Given the description of an element on the screen output the (x, y) to click on. 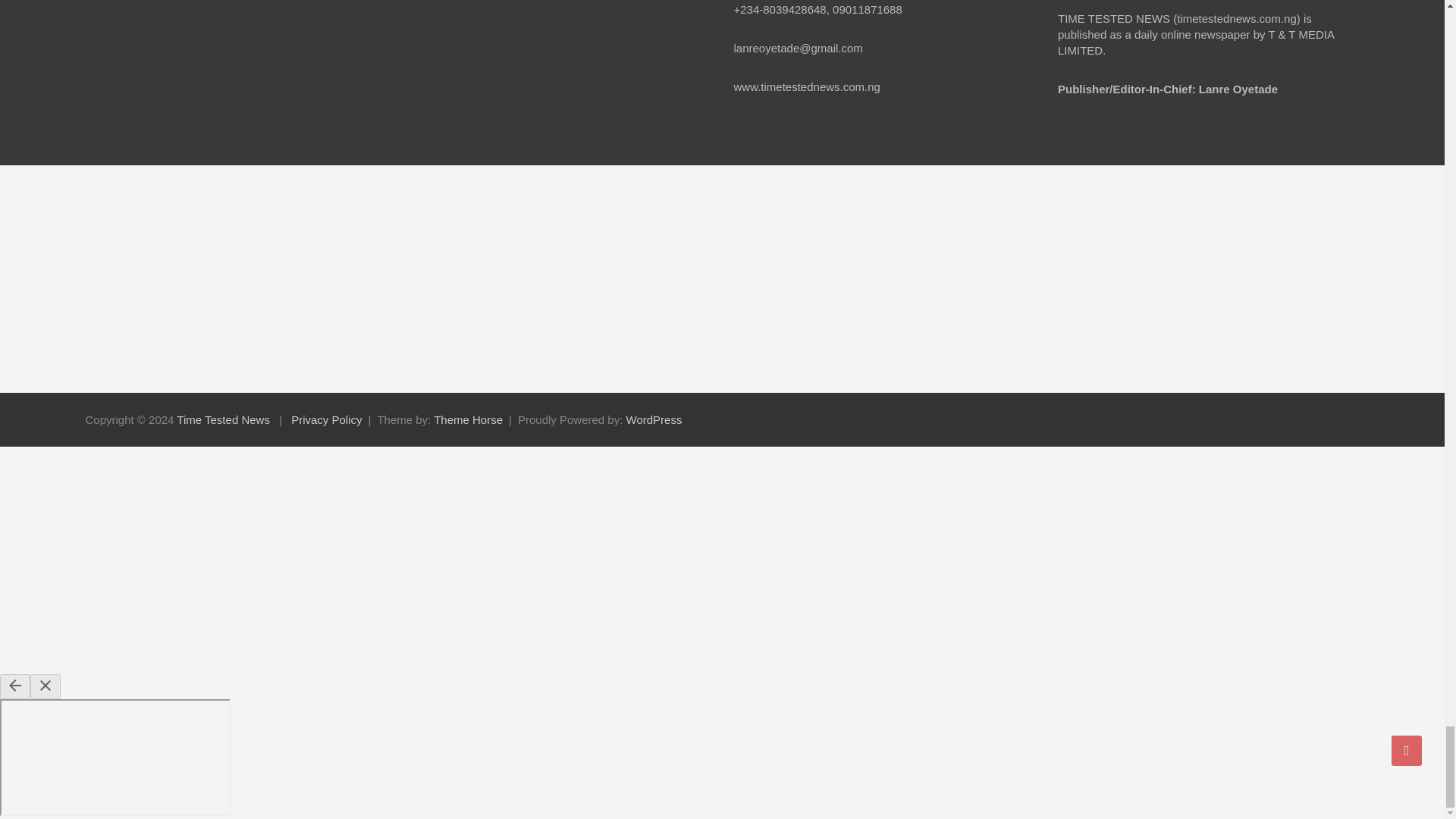
WordPress (654, 419)
Theme Horse (467, 419)
Time Tested News (222, 419)
